Given the description of an element on the screen output the (x, y) to click on. 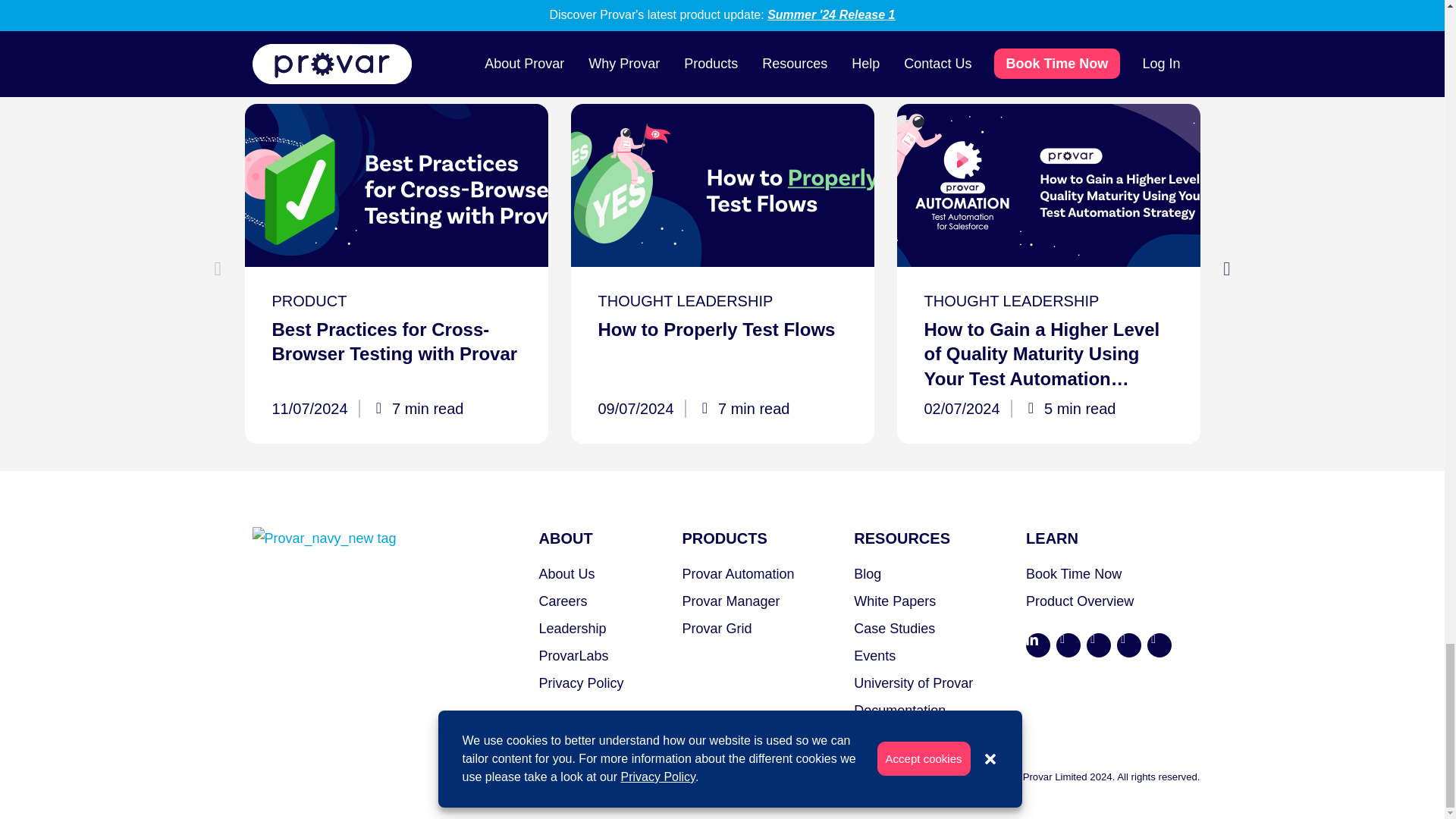
How to Properly Test Flows (721, 185)
Best Practices for Cross-Browser Testing with Provar (395, 185)
